Given the description of an element on the screen output the (x, y) to click on. 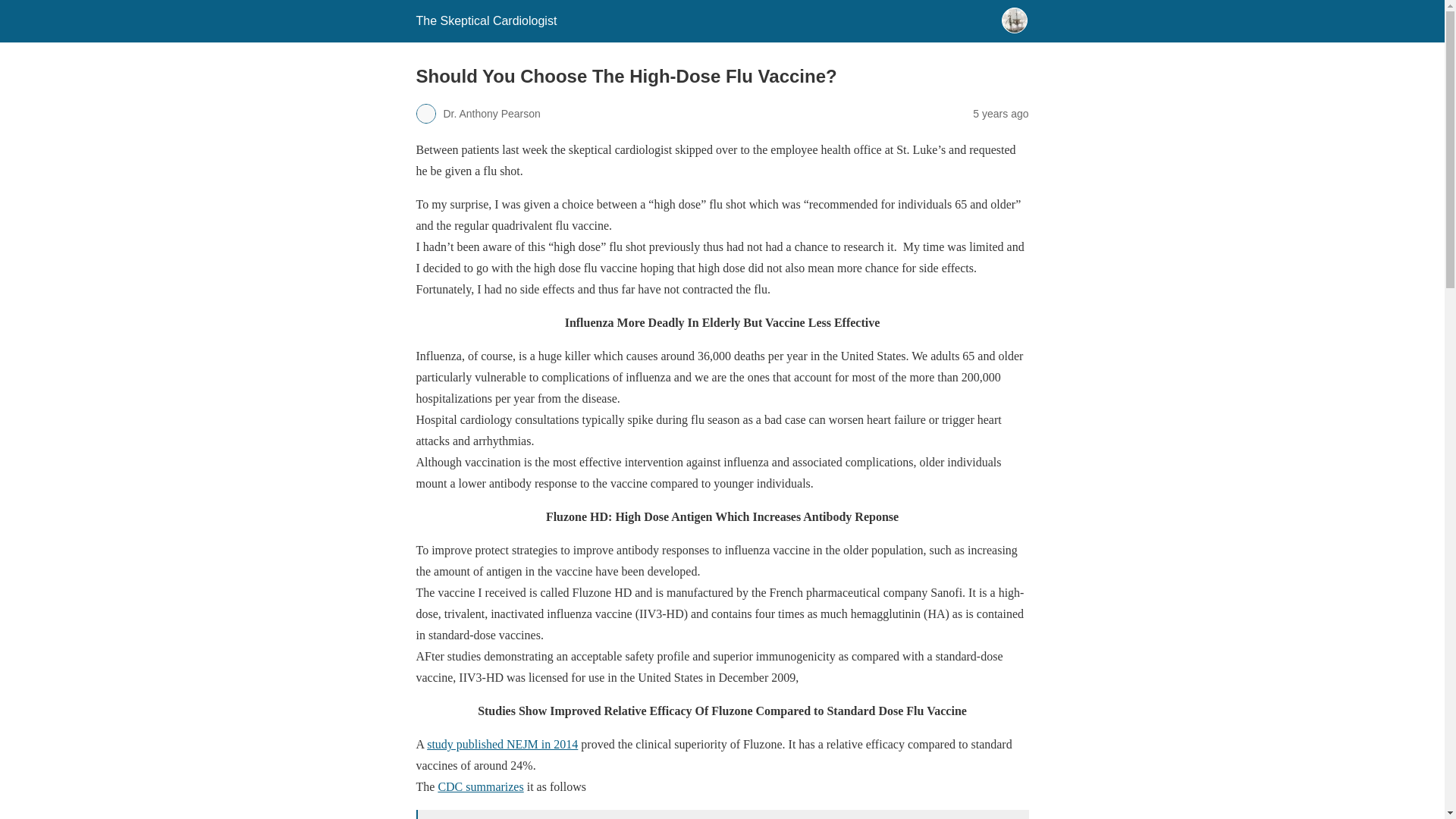
The Skeptical Cardiologist (485, 20)
study published NEJM in 2014 (502, 744)
CDC summarizes (480, 786)
